Given the description of an element on the screen output the (x, y) to click on. 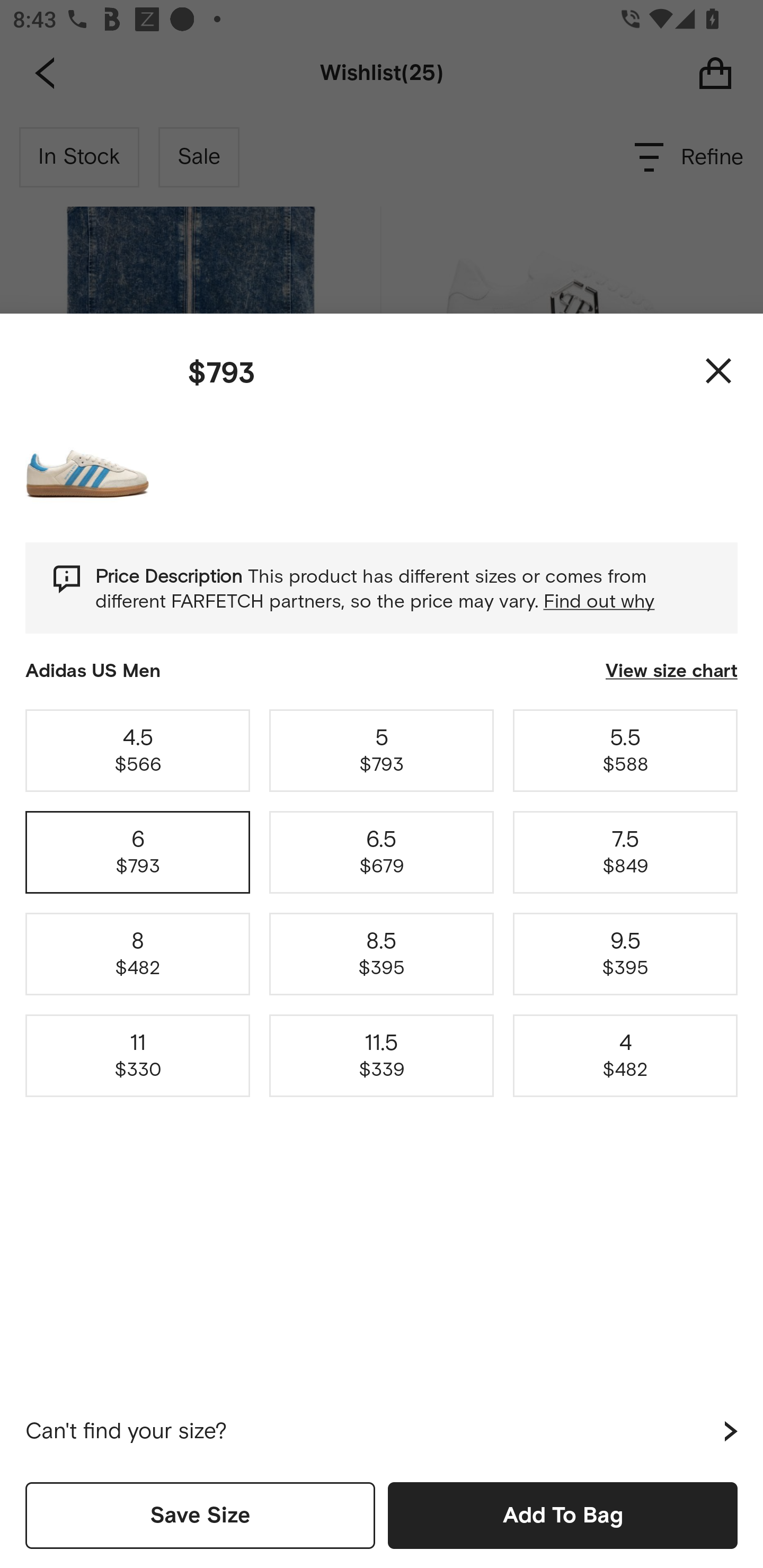
4.5 $566 (137, 749)
5 $793 (381, 749)
5.5 $588 (624, 749)
6 $793 (137, 851)
6.5 $679 (381, 851)
7.5 $849 (624, 851)
8 $482 (137, 953)
8.5 $395 (381, 953)
9.5 $395 (624, 953)
11 $330 (137, 1055)
11.5 $339 (381, 1055)
4 $482 (624, 1055)
Can't find your size? (381, 1431)
Save Size (200, 1515)
Add To Bag (562, 1515)
